Given the description of an element on the screen output the (x, y) to click on. 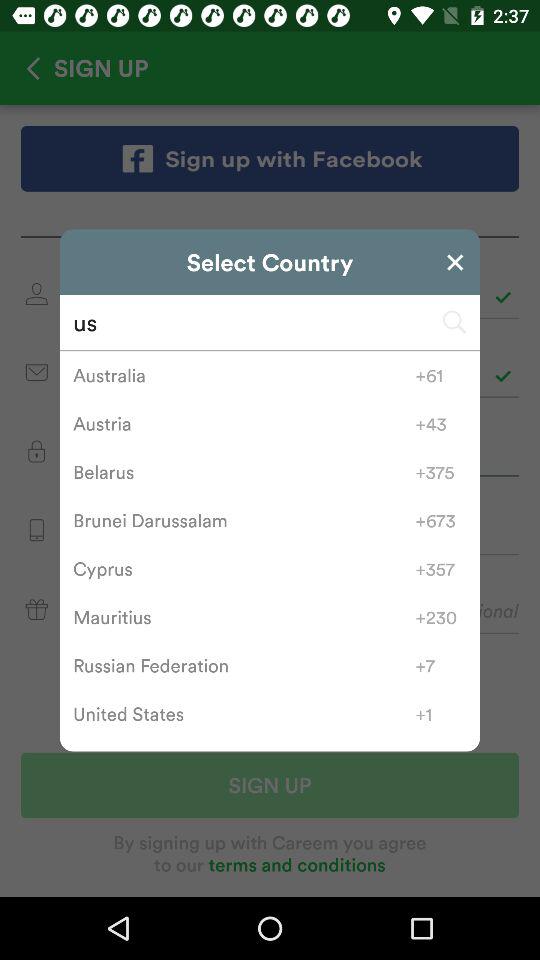
flip until +375 item (440, 472)
